Given the description of an element on the screen output the (x, y) to click on. 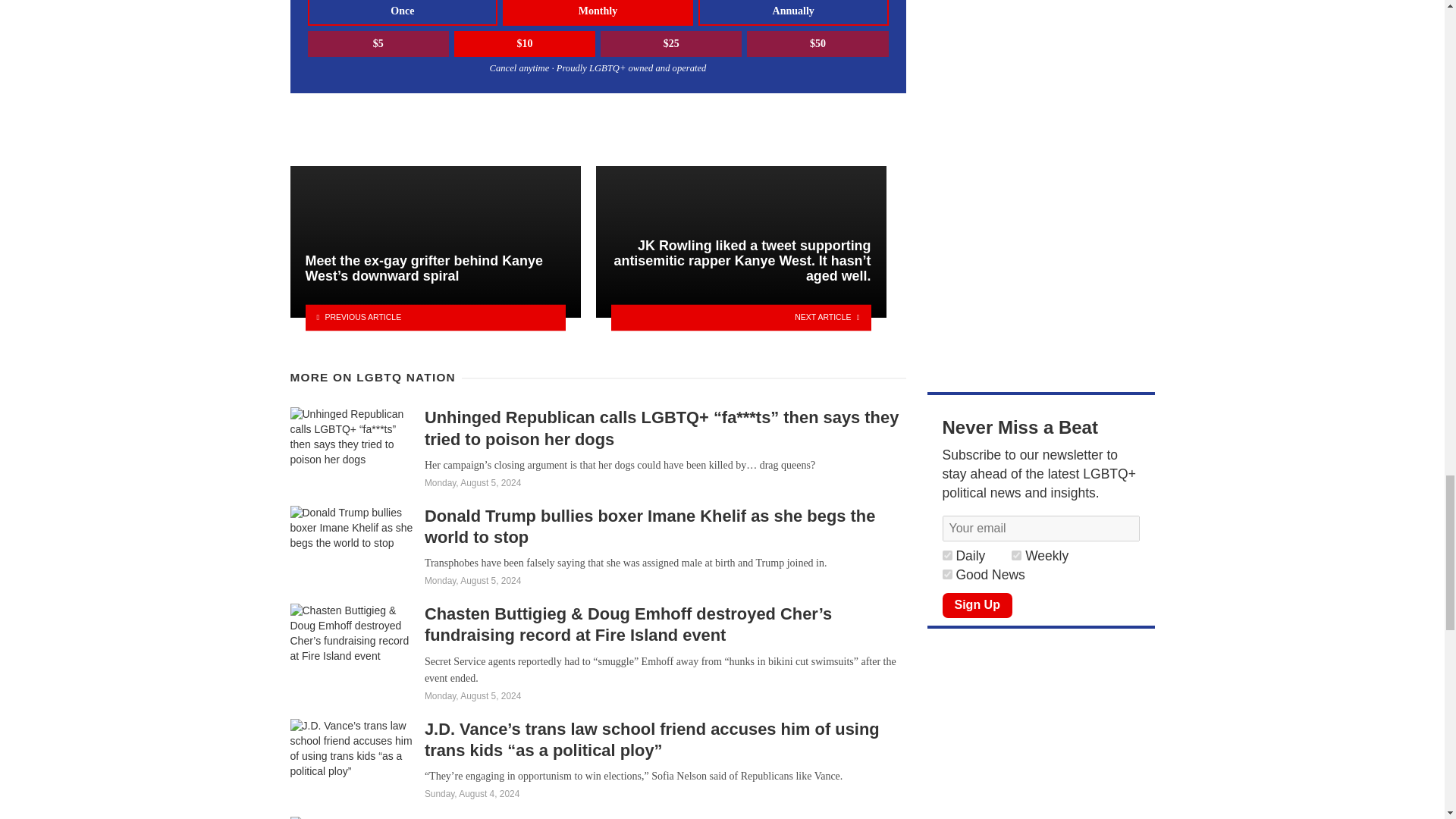
1920885 (947, 555)
Sign Up (976, 605)
1920884 (1016, 555)
1920883 (947, 574)
